Given the description of an element on the screen output the (x, y) to click on. 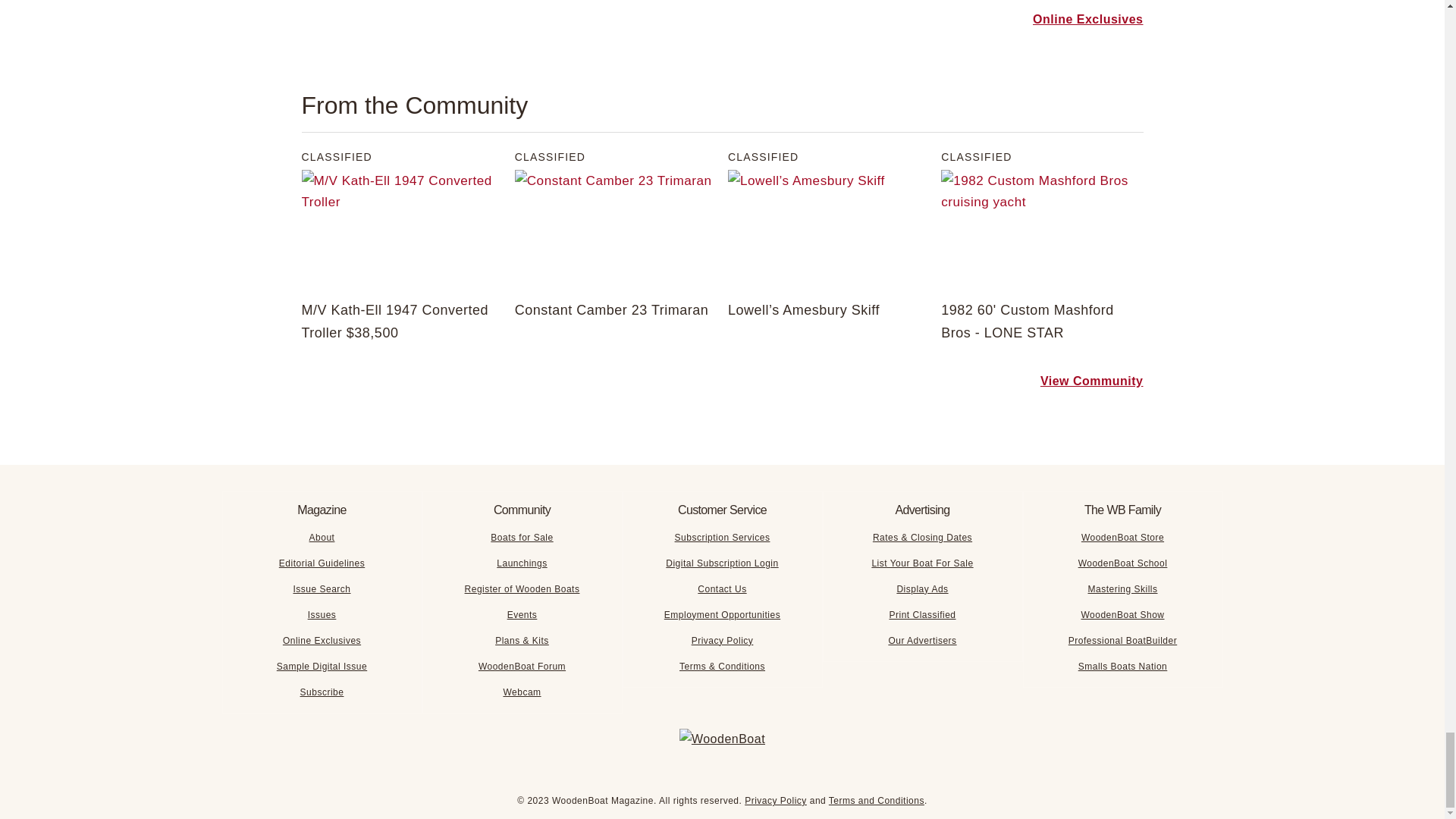
1982 60' Custom Mashford Bros - LONE STAR (1041, 230)
Constant Camber 23 Trimaran (615, 230)
1947 Converted Troller (402, 230)
